Given the description of an element on the screen output the (x, y) to click on. 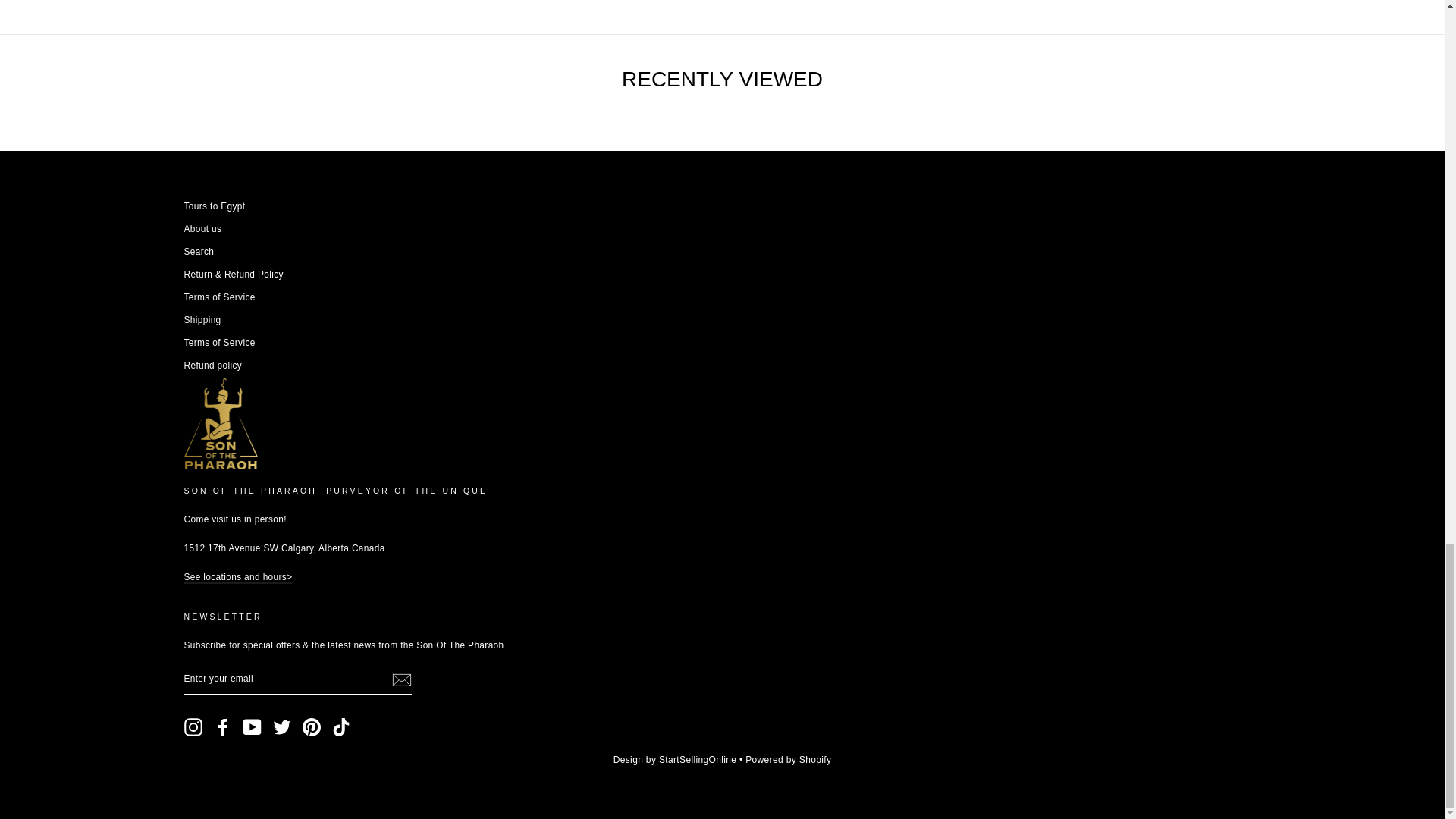
Son Of The Pharaoh on YouTube (251, 727)
Son Of The Pharaoh on Twitter (282, 727)
Son Of The Pharaoh on Facebook (222, 727)
Son Of The Pharaoh on Instagram (192, 727)
